Given the description of an element on the screen output the (x, y) to click on. 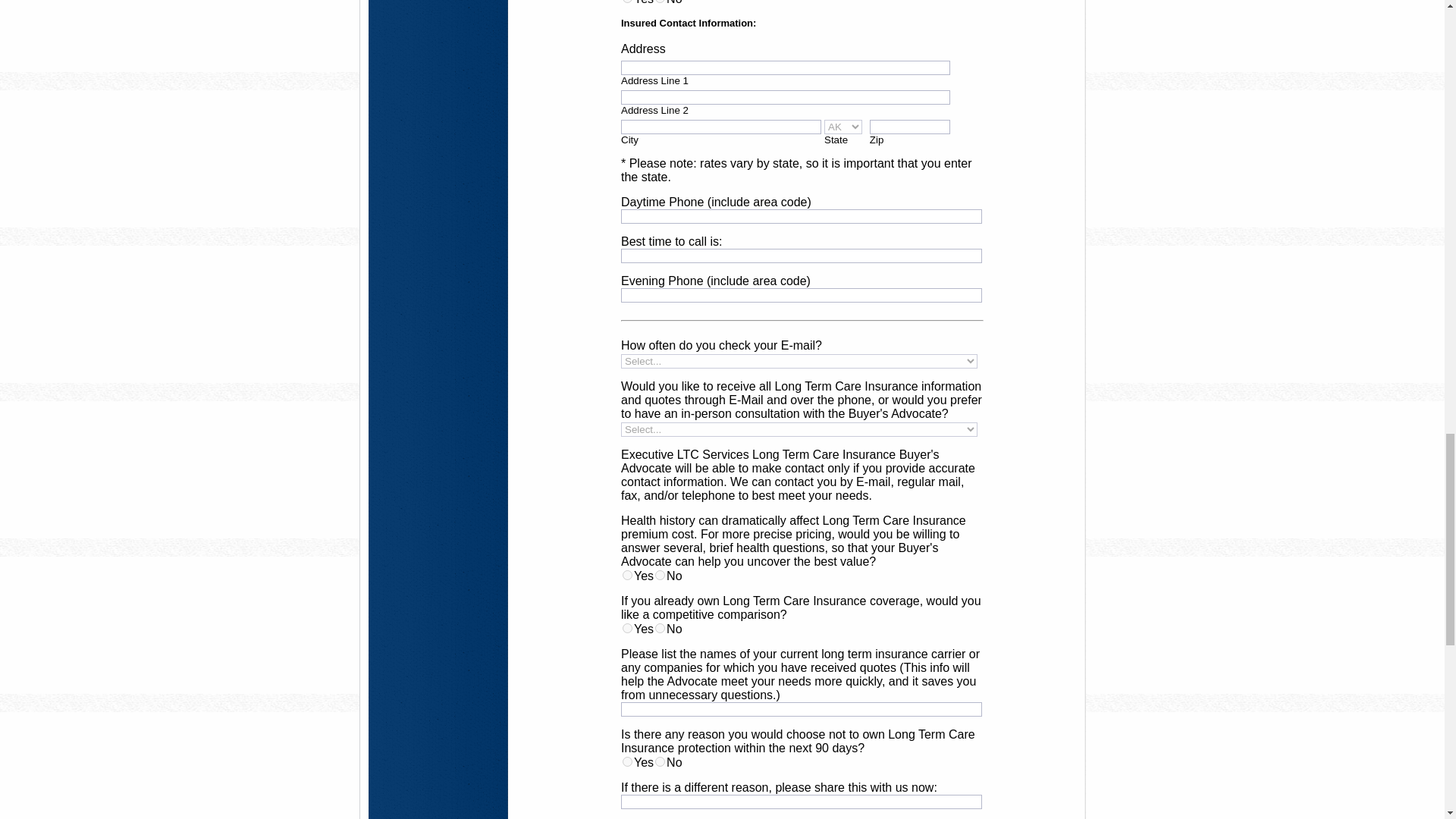
Yes (627, 574)
No (660, 1)
No (660, 574)
